Given the description of an element on the screen output the (x, y) to click on. 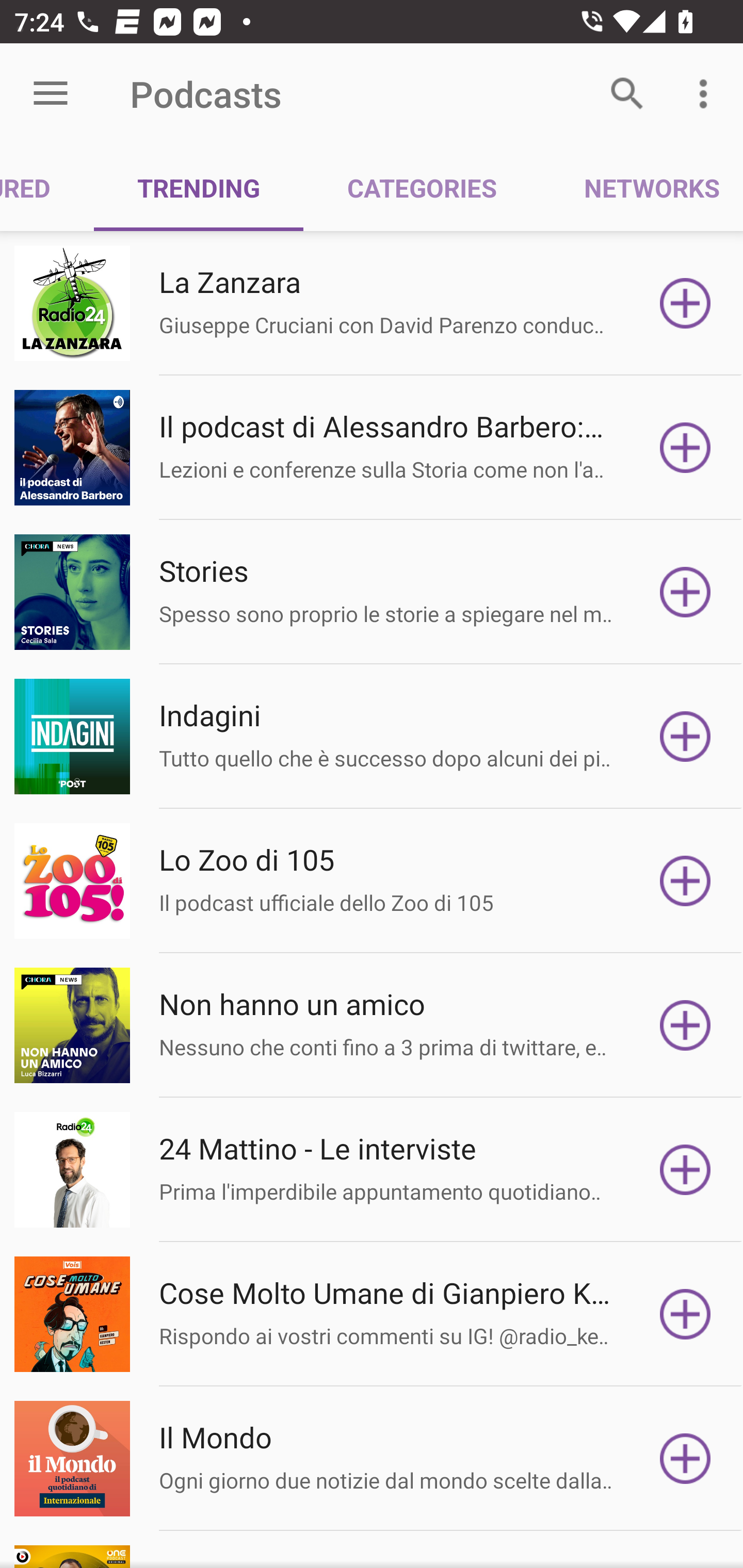
Open menu (50, 93)
Search (626, 93)
More options (706, 93)
TRENDING (198, 187)
CATEGORIES (421, 187)
NETWORKS (641, 187)
Subscribe (685, 303)
Subscribe (685, 447)
Subscribe (685, 591)
Subscribe (685, 736)
Subscribe (685, 881)
Subscribe (685, 1025)
Subscribe (685, 1169)
Subscribe (685, 1313)
Subscribe (685, 1458)
